Given the description of an element on the screen output the (x, y) to click on. 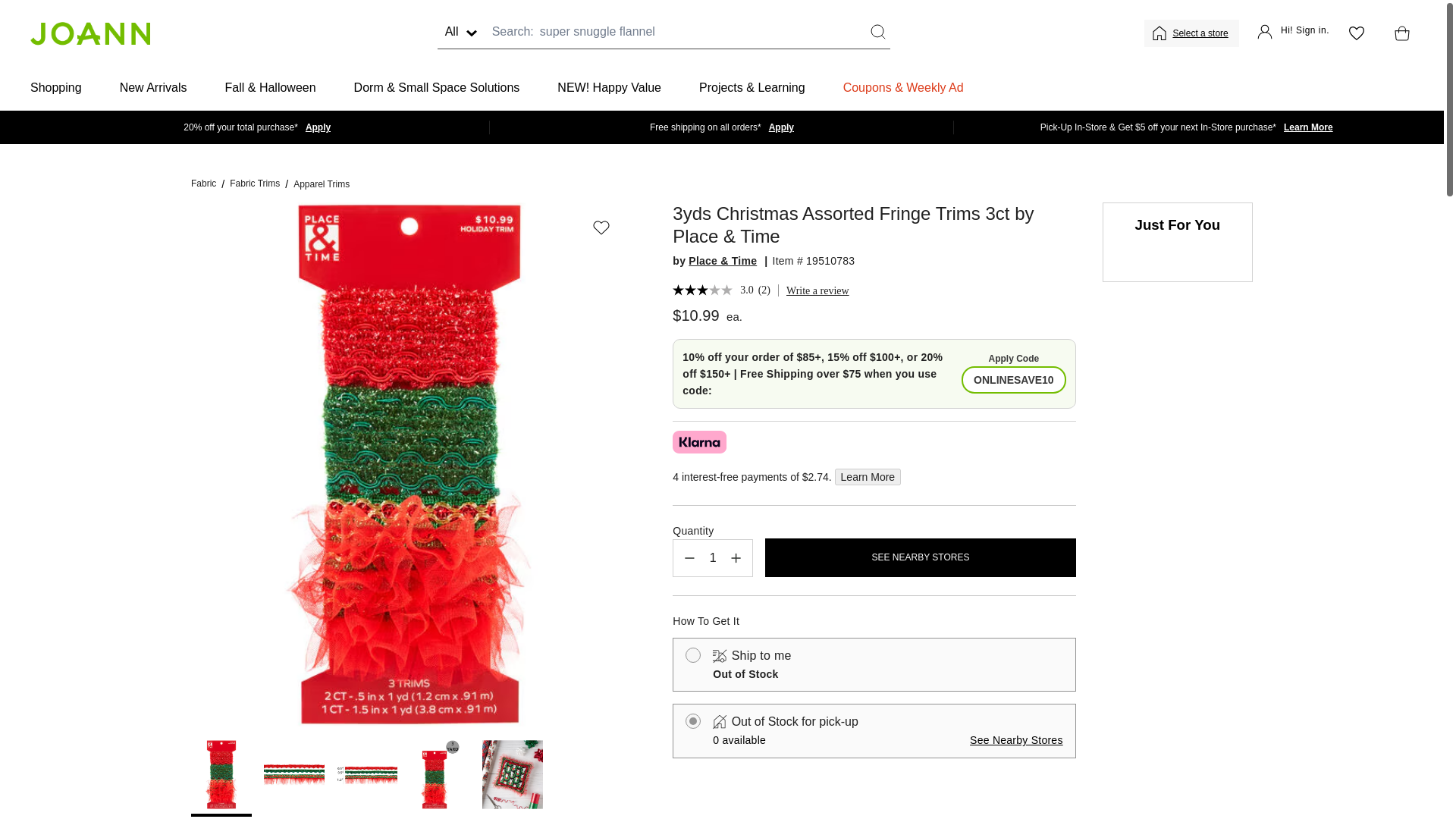
JO-ANN STORES, LLC Home (89, 33)
Fabric (202, 183)
Select a store (1201, 32)
Shopping (55, 87)
Fabric Trims (254, 183)
Hi! Sign in. (1293, 33)
View Cart (1398, 33)
Hi! Sign in. (1293, 33)
1 (712, 557)
Favorites (1356, 33)
Apparel Trims (321, 184)
